Given the description of an element on the screen output the (x, y) to click on. 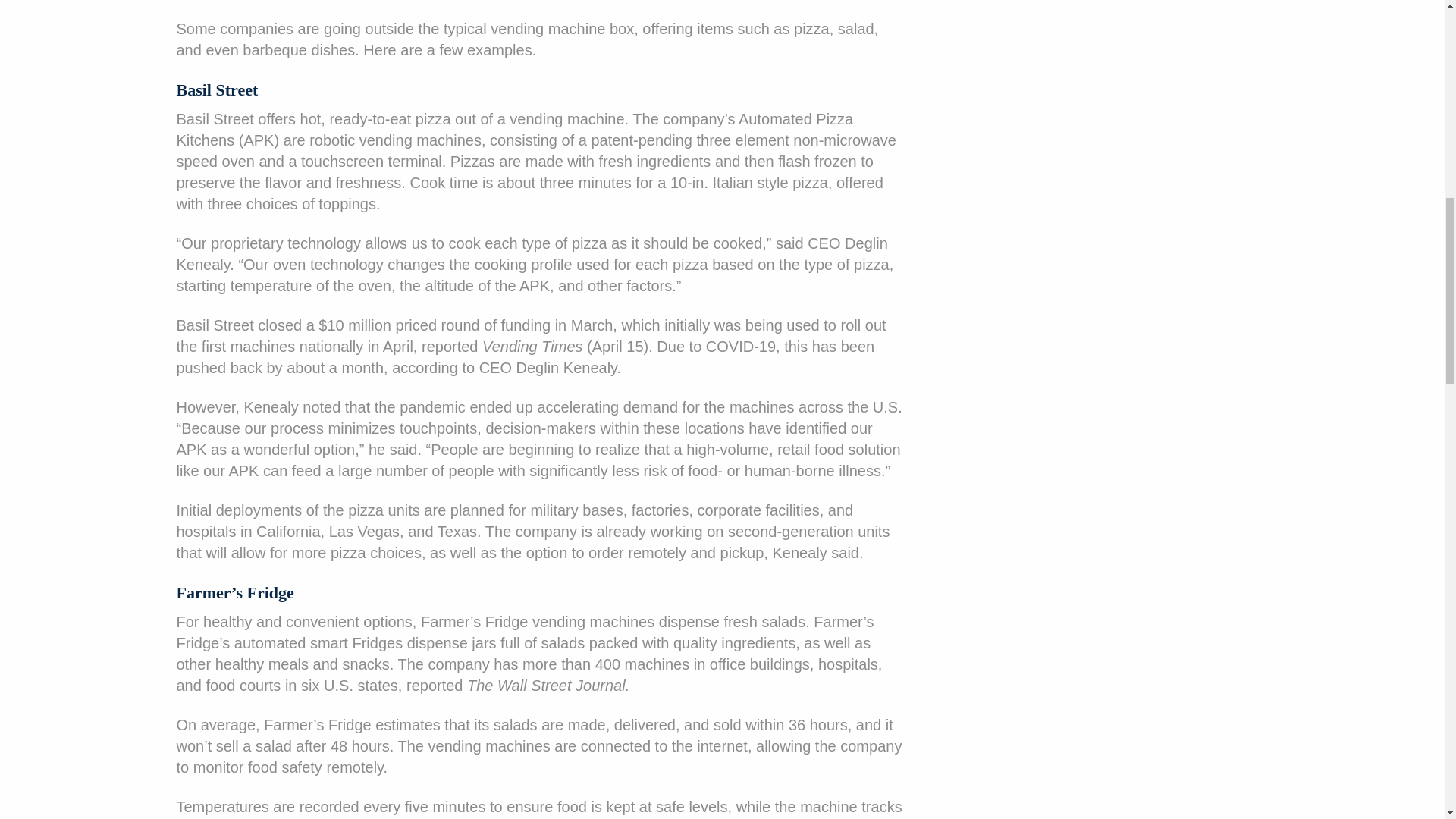
MY ACCOUNT (57, 227)
MEMBER PROFILE (71, 75)
ADVERTISE (716, 303)
DATA INSIGHTS (61, 113)
EARNINGS AND SALES (85, 37)
NEWSLETTER SIGN UP (716, 265)
TODAY IN FOOD (64, 9)
ECONOMIC BENCHMARKING (106, 151)
WEBINAR (43, 189)
ADVISORY SERVICES (716, 341)
